Given the description of an element on the screen output the (x, y) to click on. 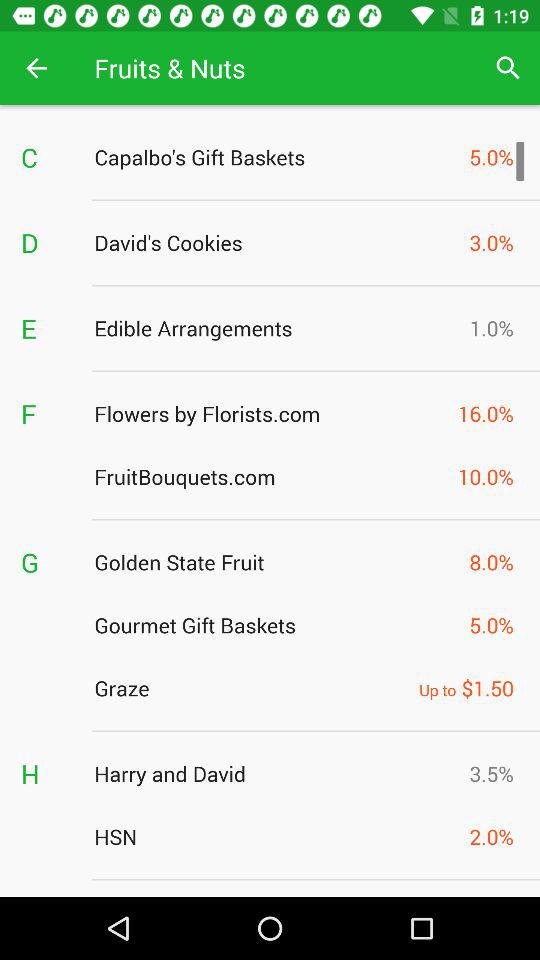
launch item next to the c (276, 157)
